Given the description of an element on the screen output the (x, y) to click on. 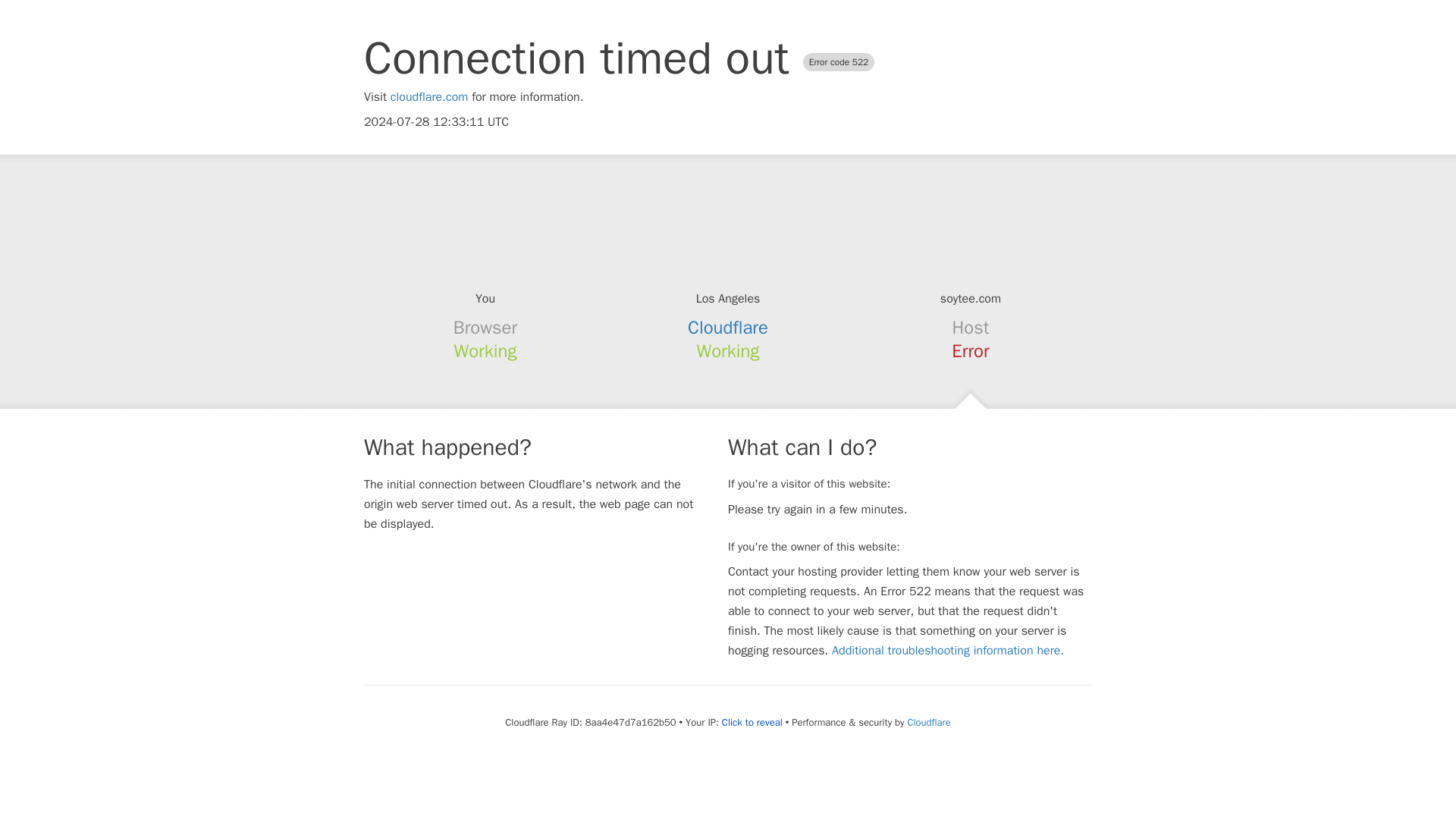
Additional troubleshooting information here. (947, 650)
Cloudflare (727, 327)
Cloudflare (928, 721)
cloudflare.com (429, 96)
Click to reveal (752, 722)
